Given the description of an element on the screen output the (x, y) to click on. 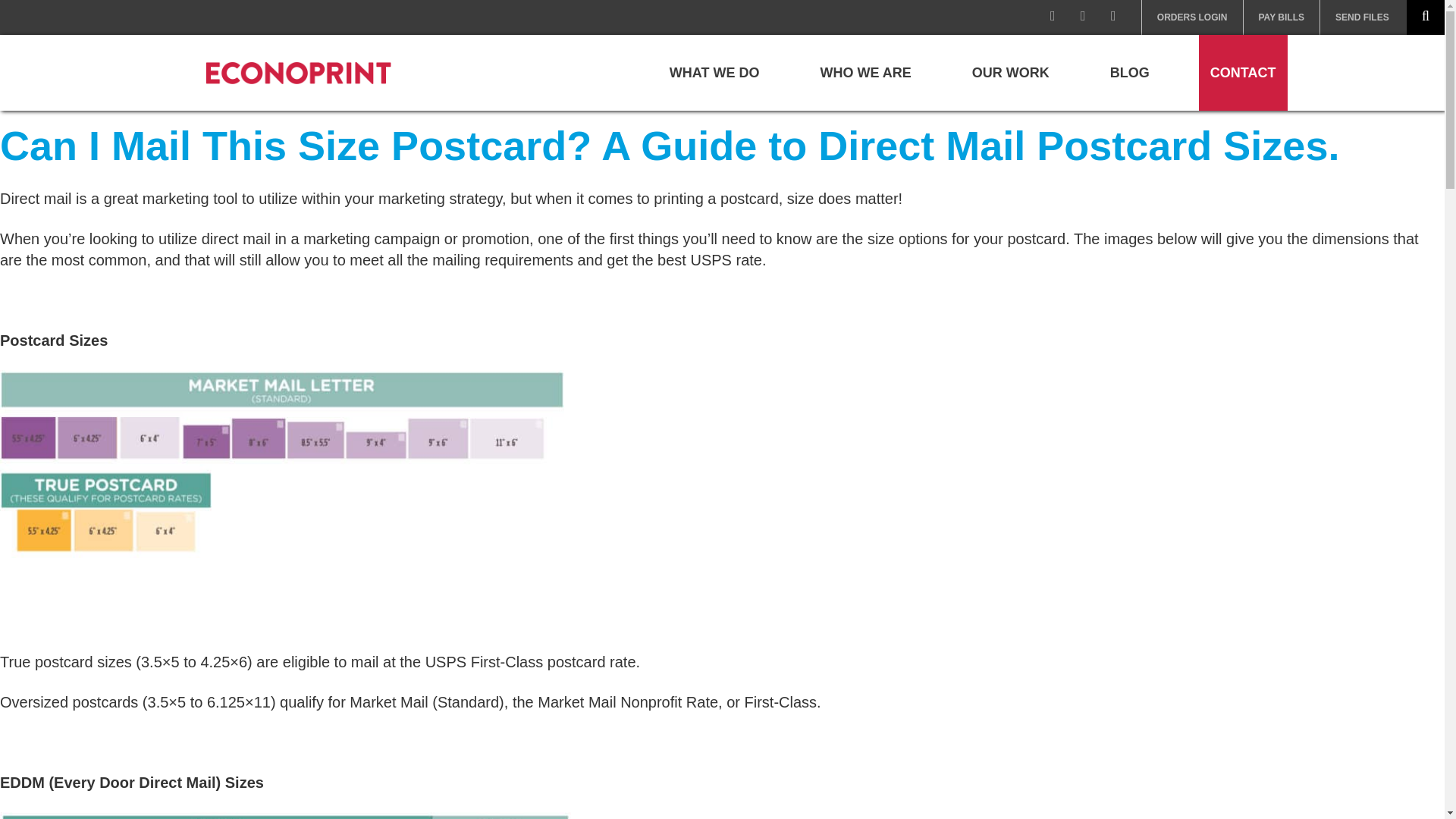
WHO WE ARE (866, 72)
PAY BILLS (1281, 17)
ORDERS LOGIN (1192, 17)
OUR WORK (1010, 72)
WHAT WE DO (714, 72)
CONTACT (1242, 72)
SEND FILES (1362, 17)
